Given the description of an element on the screen output the (x, y) to click on. 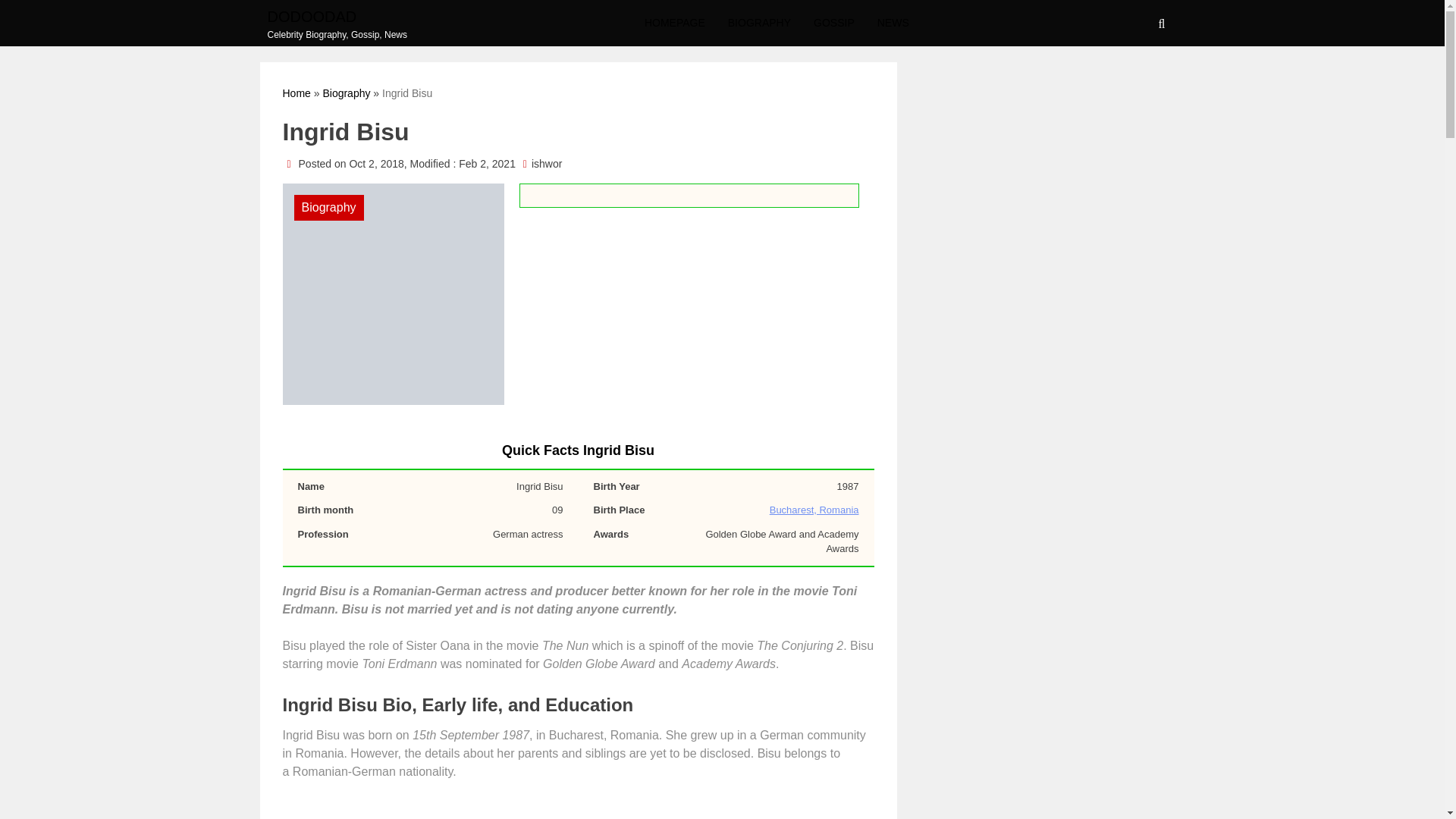
GOSSIP (834, 22)
Bucharest, Romania (814, 509)
Biography (345, 92)
NEWS (893, 22)
DODOODAD (336, 15)
BIOGRAPHY (759, 22)
HOMEPAGE (674, 22)
Home (296, 92)
